Given the description of an element on the screen output the (x, y) to click on. 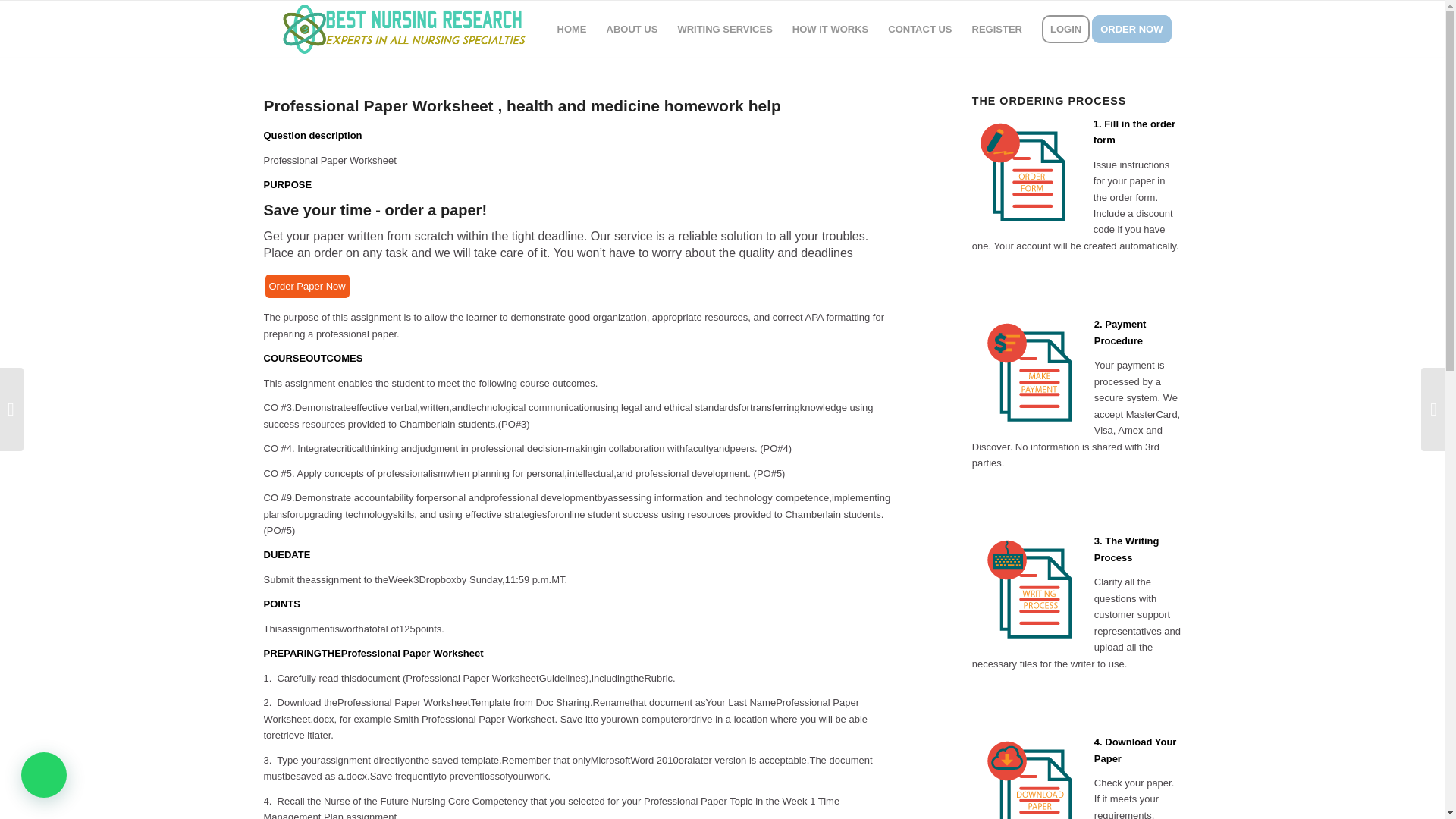
WRITING SERVICES (723, 28)
HOW IT WORKS (830, 28)
LOGIN (1065, 28)
ABOUT US (632, 28)
ORDER NOW (1136, 28)
CONTACT US (918, 28)
REGISTER (997, 28)
Order Paper Now (306, 286)
